Given the description of an element on the screen output the (x, y) to click on. 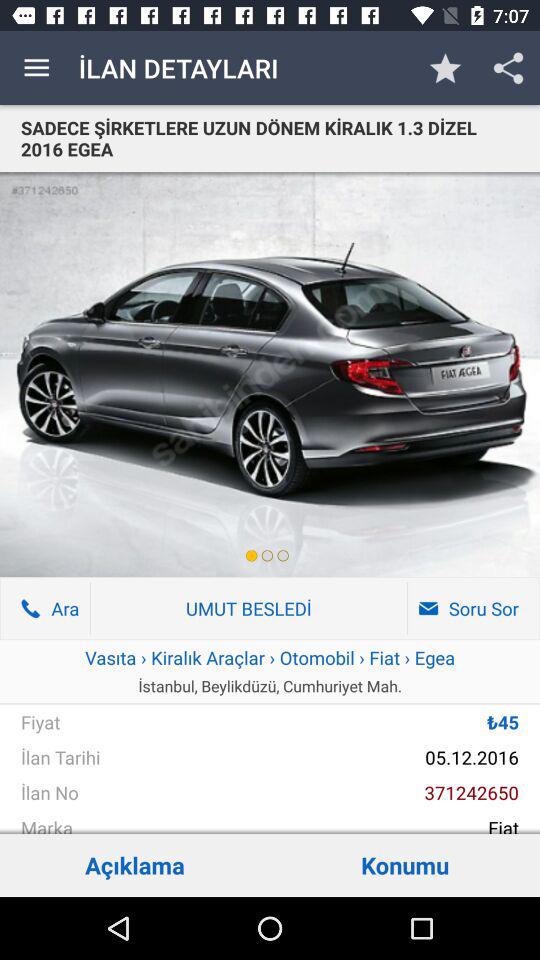
click the share button on the top right corner of the web page (508, 68)
